Given the description of an element on the screen output the (x, y) to click on. 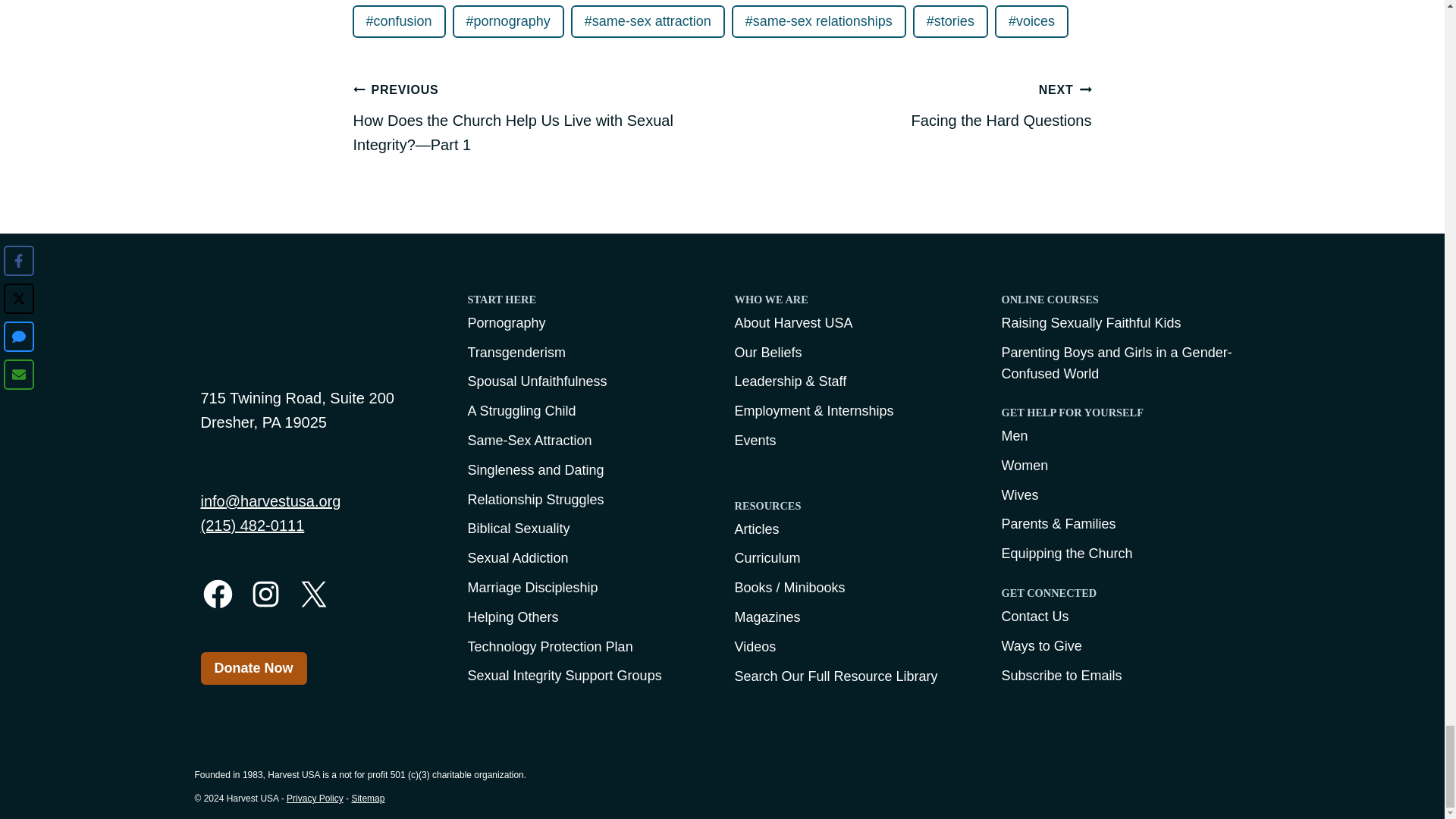
Relationship Struggles (588, 499)
same-sex relationships (911, 104)
Singleness and Dating (818, 20)
Harvest USA logo (588, 470)
voices (283, 336)
Follow Harvest USA on Facebook (1031, 20)
pornography (217, 593)
START HERE (508, 20)
stories (588, 303)
confusion (950, 20)
Same-Sex Attraction (398, 20)
Follow Harvest USA on Instagram (588, 440)
same-sex attraction (265, 593)
Transgenderism (647, 20)
